Given the description of an element on the screen output the (x, y) to click on. 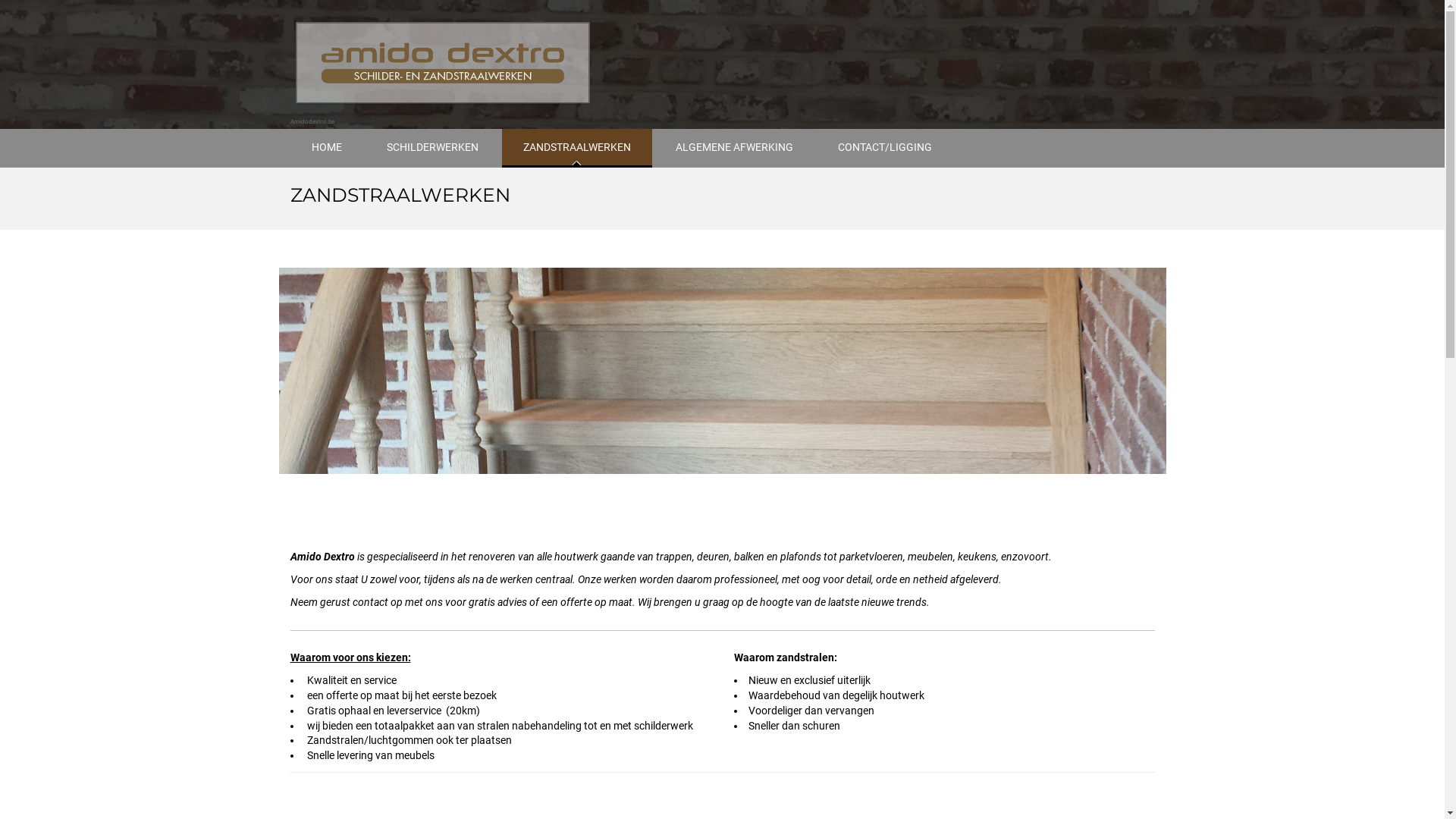
ZANDSTRAALWERKEN Element type: text (577, 147)
HOME Element type: text (325, 147)
ALGEMENE AFWERKING Element type: text (733, 147)
CONTACT/LIGGING Element type: text (883, 147)
SCHILDERWERKEN Element type: text (432, 147)
